Given the description of an element on the screen output the (x, y) to click on. 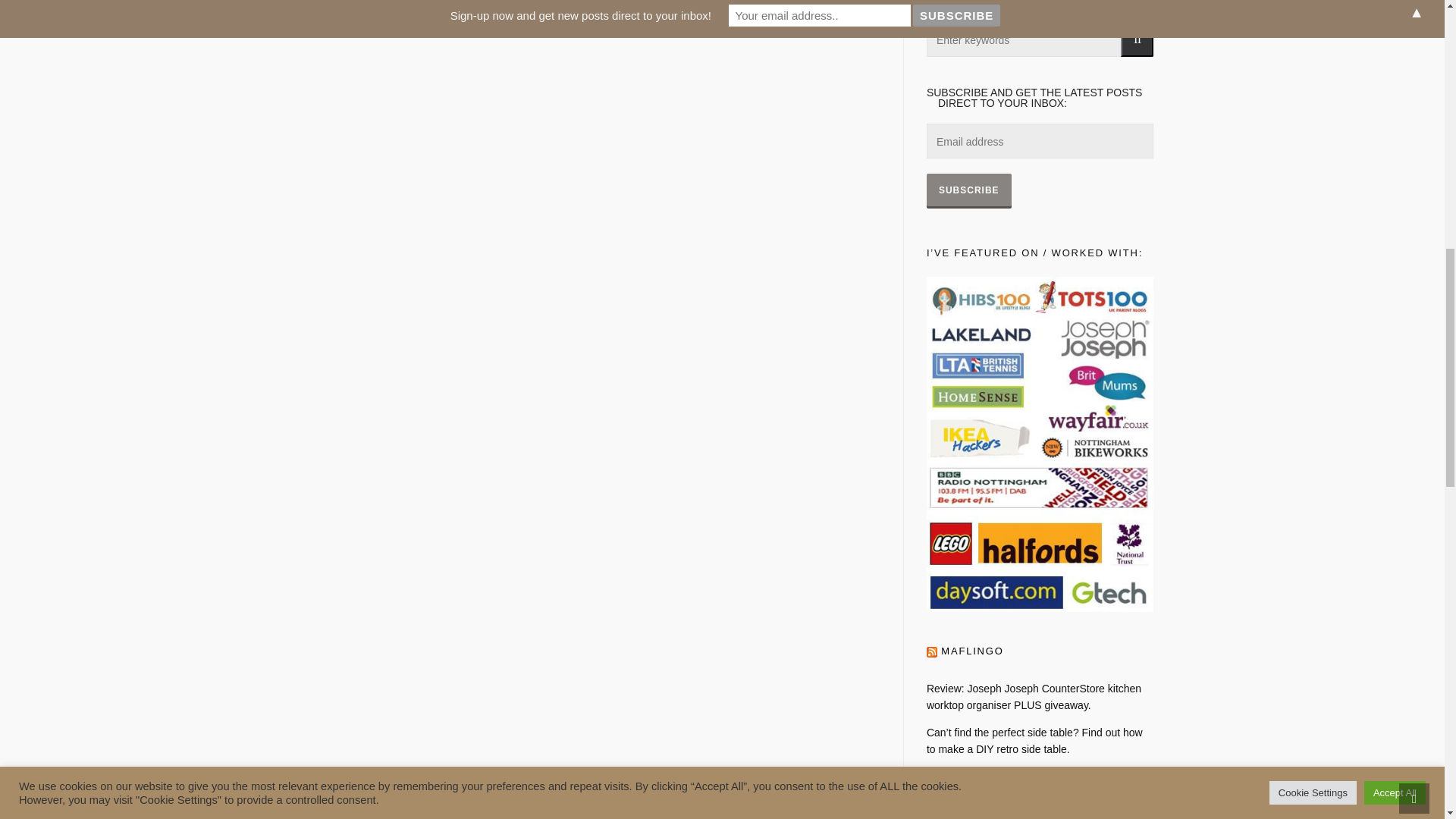
Subscribe (968, 190)
Subscribe (968, 190)
Can you afford to keep your savings in cash? (1040, 815)
MAFLINGO (971, 650)
